Given the description of an element on the screen output the (x, y) to click on. 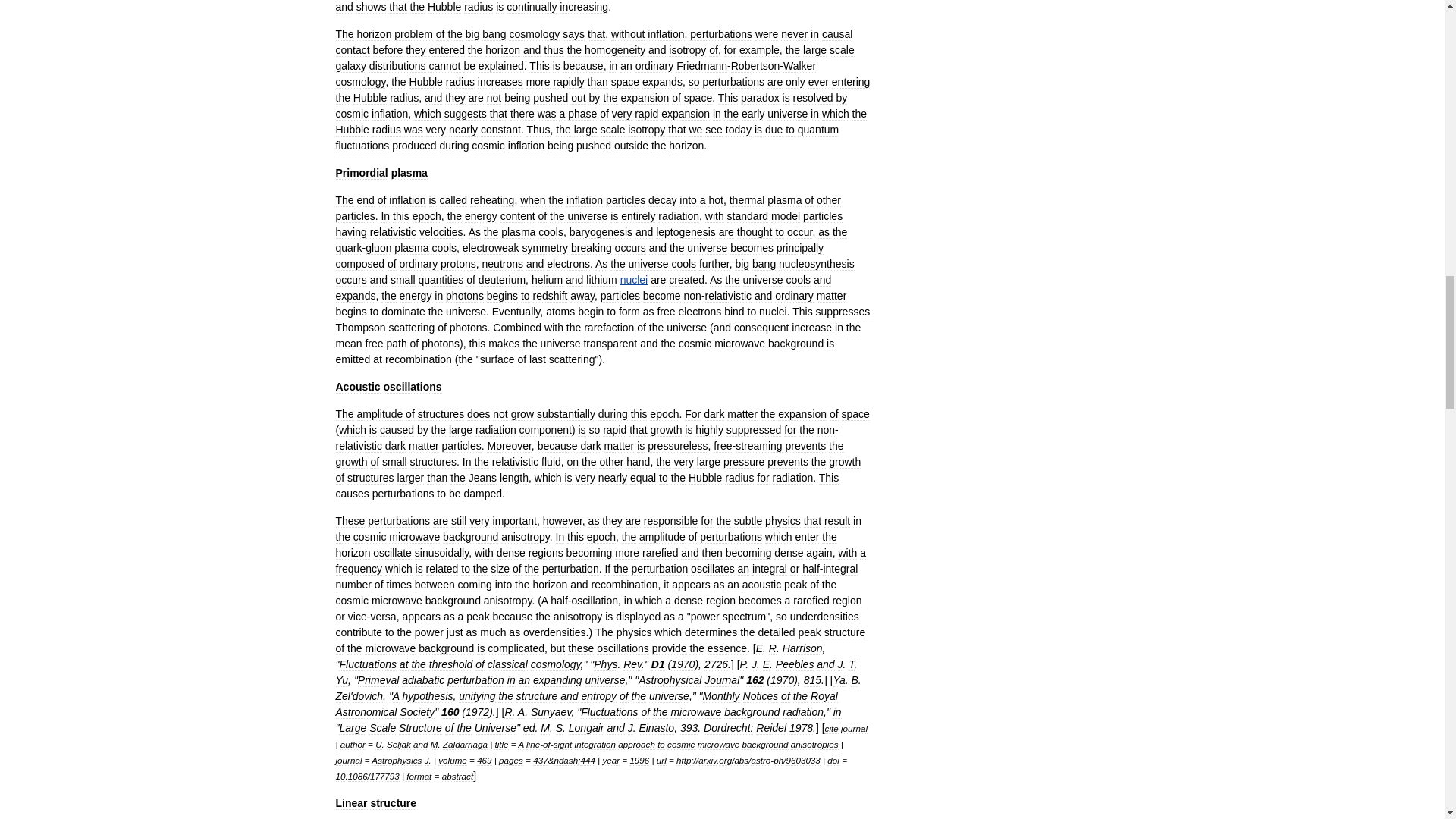
nuclei (633, 279)
